Given the description of an element on the screen output the (x, y) to click on. 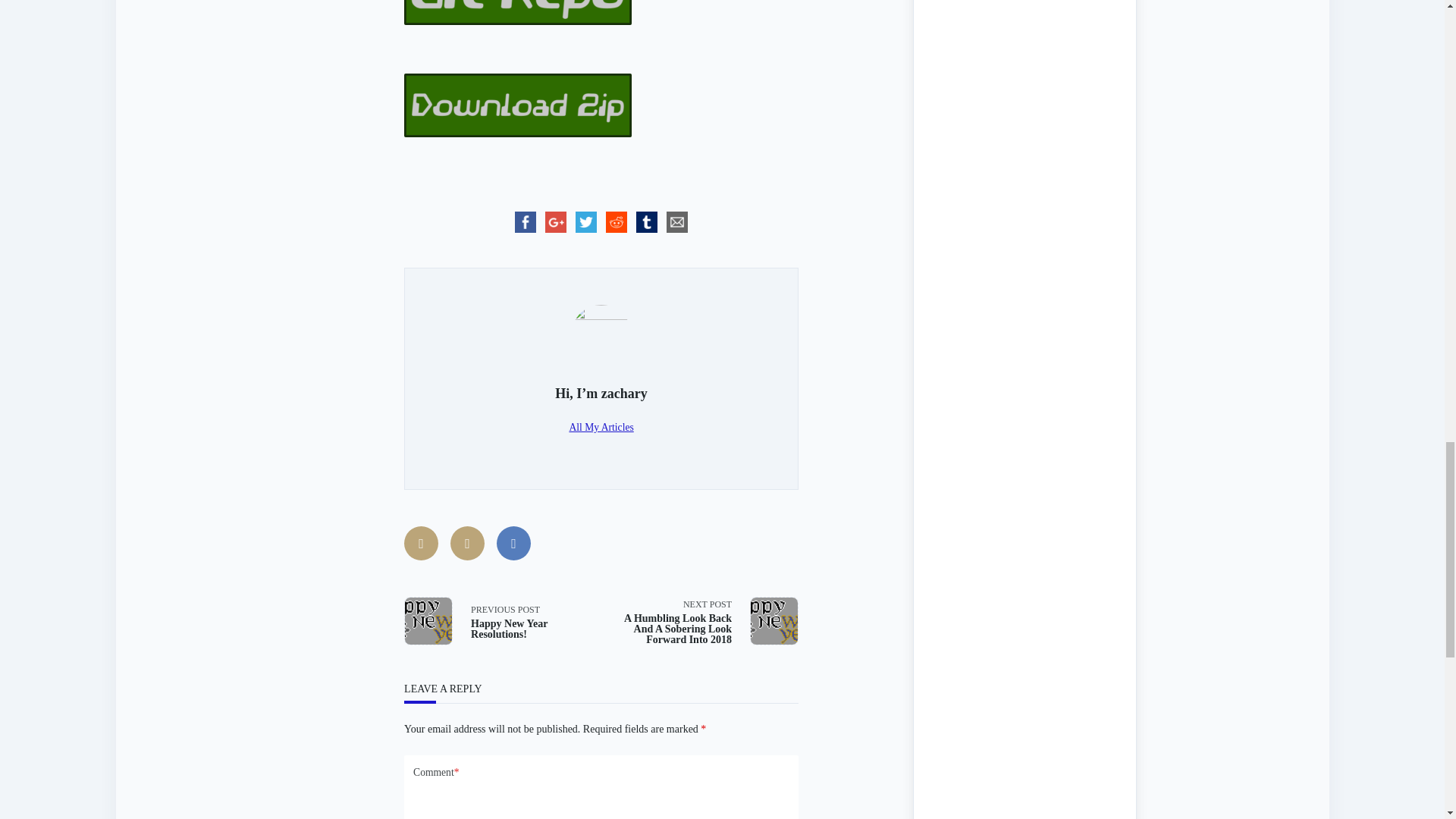
reddit (616, 222)
twitter (585, 222)
email (677, 222)
facebook (525, 222)
google (555, 222)
tumblr (646, 222)
